Given the description of an element on the screen output the (x, y) to click on. 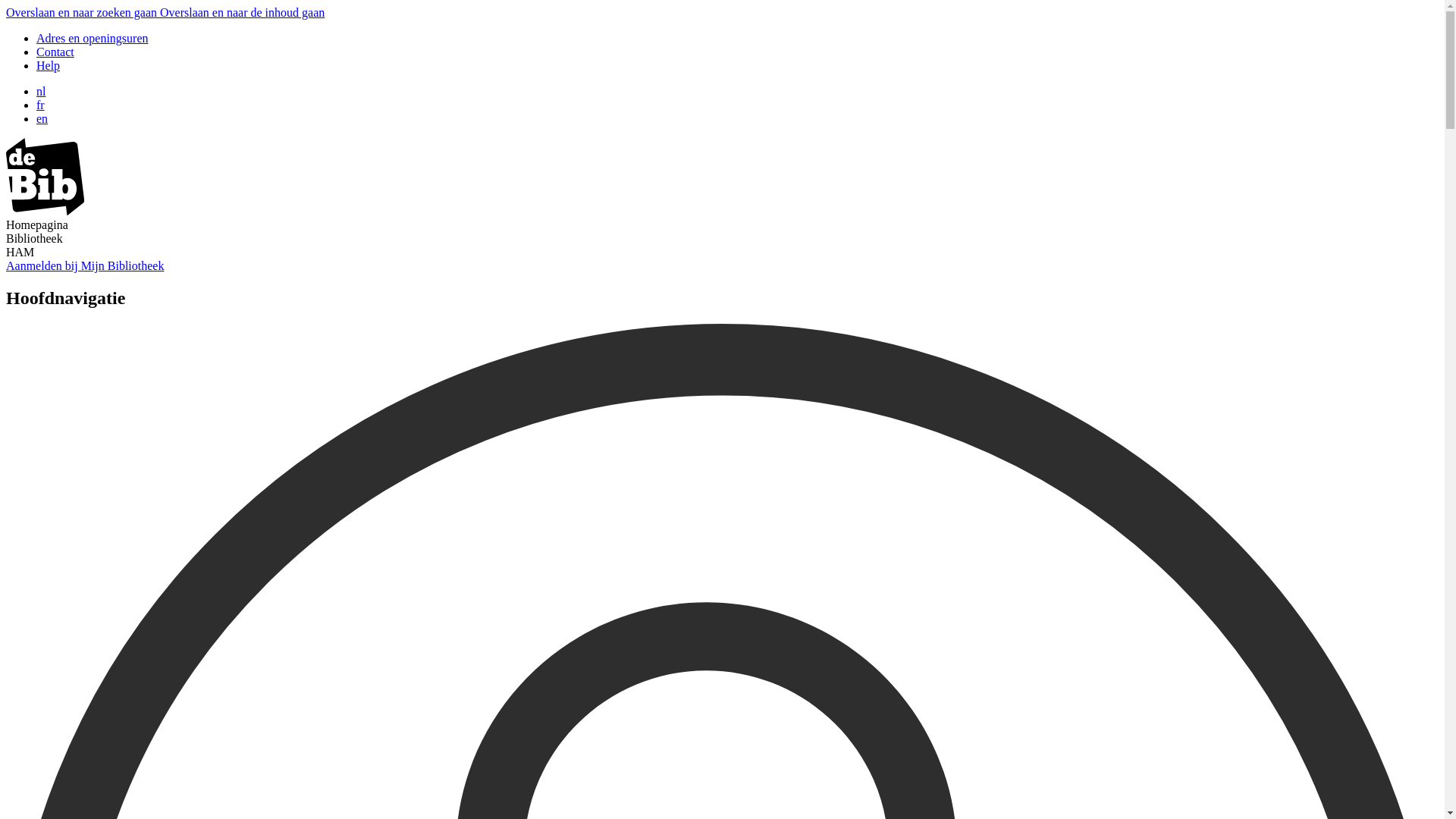
Overslaan en naar zoeken gaan Element type: text (83, 12)
en Element type: text (41, 118)
Aanmelden bij Mijn Bibliotheek Element type: text (84, 265)
Overslaan en naar de inhoud gaan Element type: text (242, 12)
image/svg+xml Element type: text (45, 210)
fr Element type: text (40, 104)
Adres en openingsuren Element type: text (92, 37)
Help Element type: text (47, 65)
nl Element type: text (40, 90)
Contact Element type: text (55, 51)
